Given the description of an element on the screen output the (x, y) to click on. 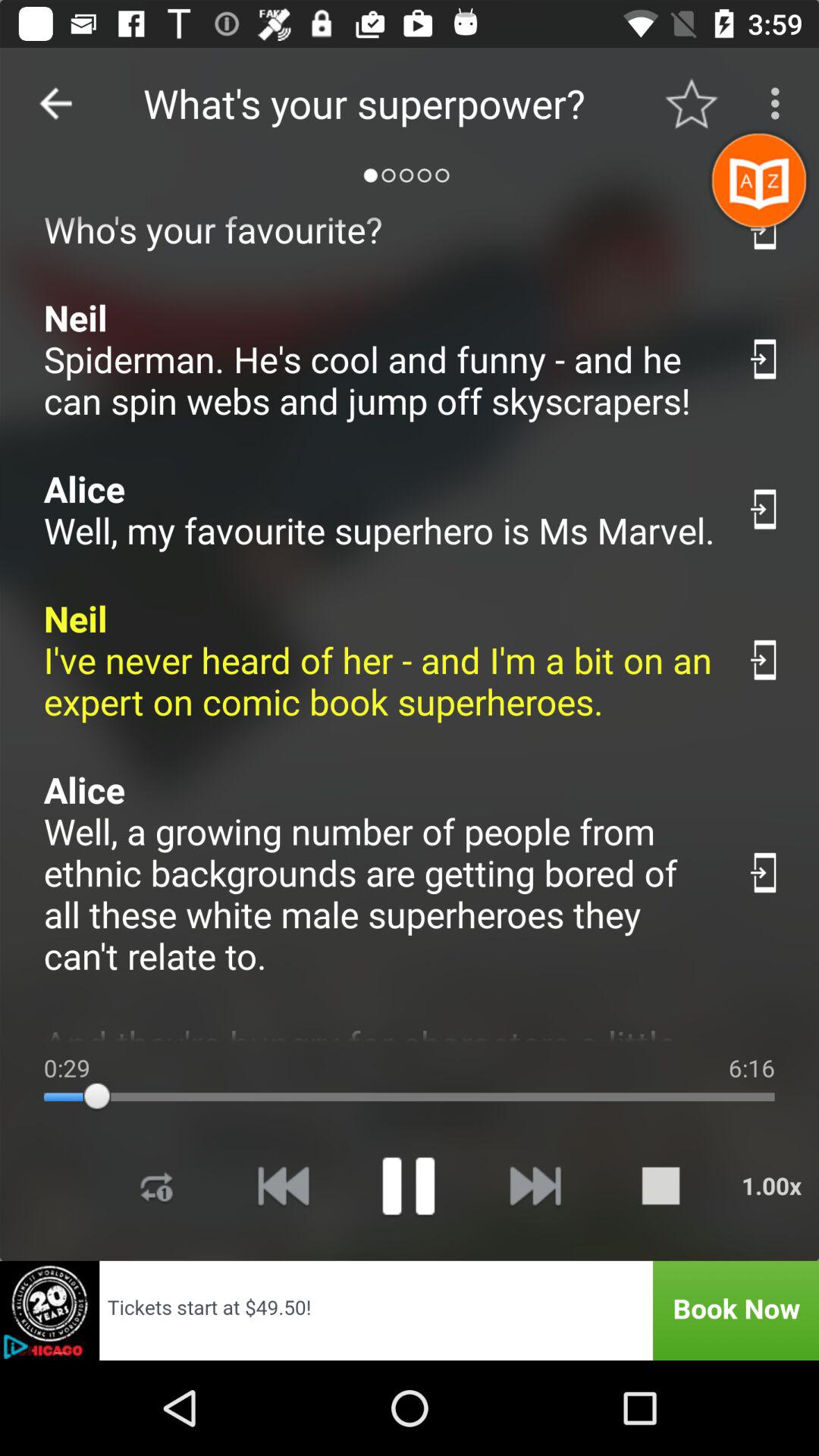
toggle repeat option (157, 1185)
